Given the description of an element on the screen output the (x, y) to click on. 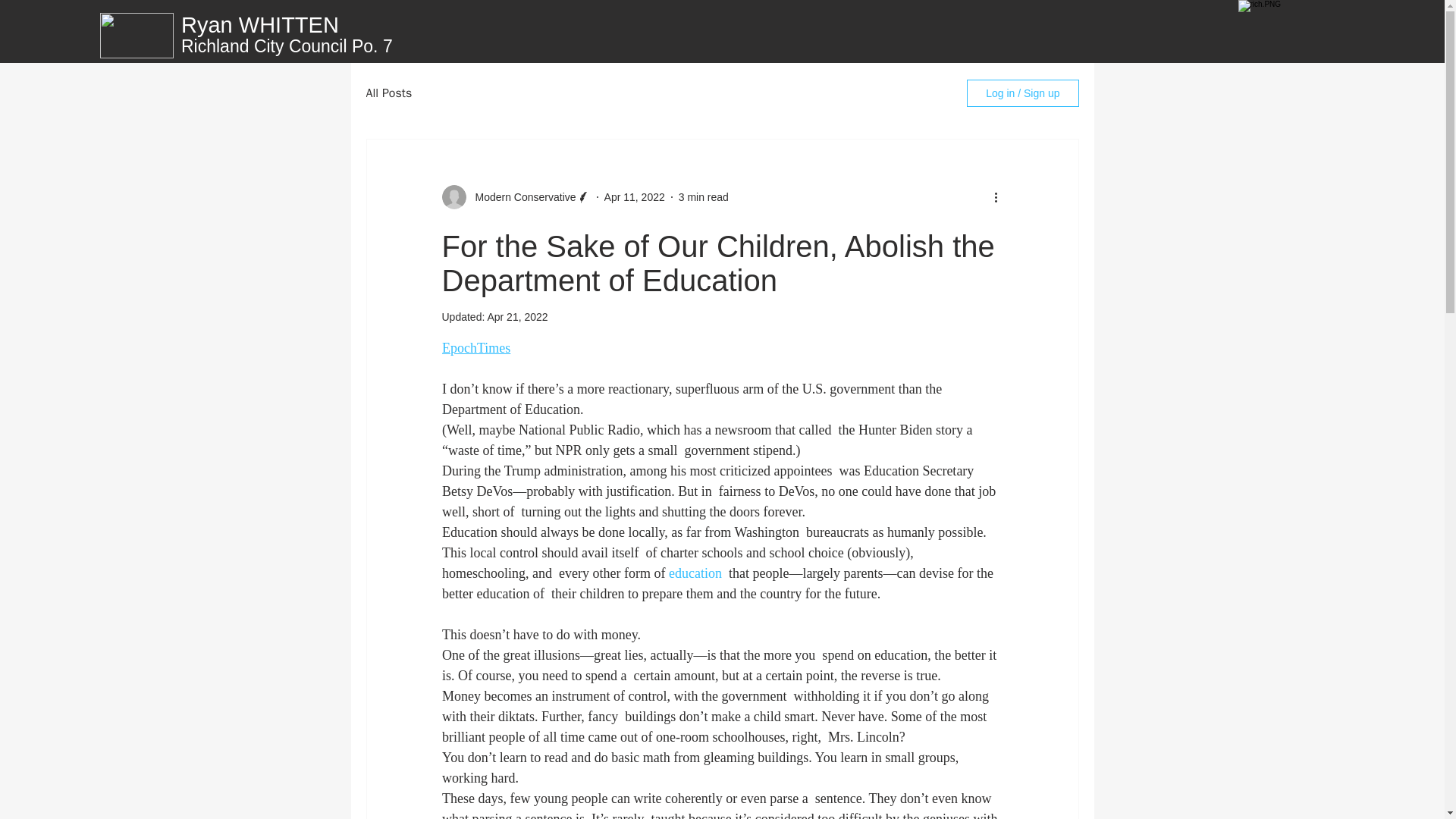
3 min read (703, 196)
Apr 21, 2022 (516, 316)
Modern Conservative (520, 197)
All Posts (388, 92)
education (694, 572)
Apr 11, 2022 (634, 196)
EpochTimes (475, 347)
